Given the description of an element on the screen output the (x, y) to click on. 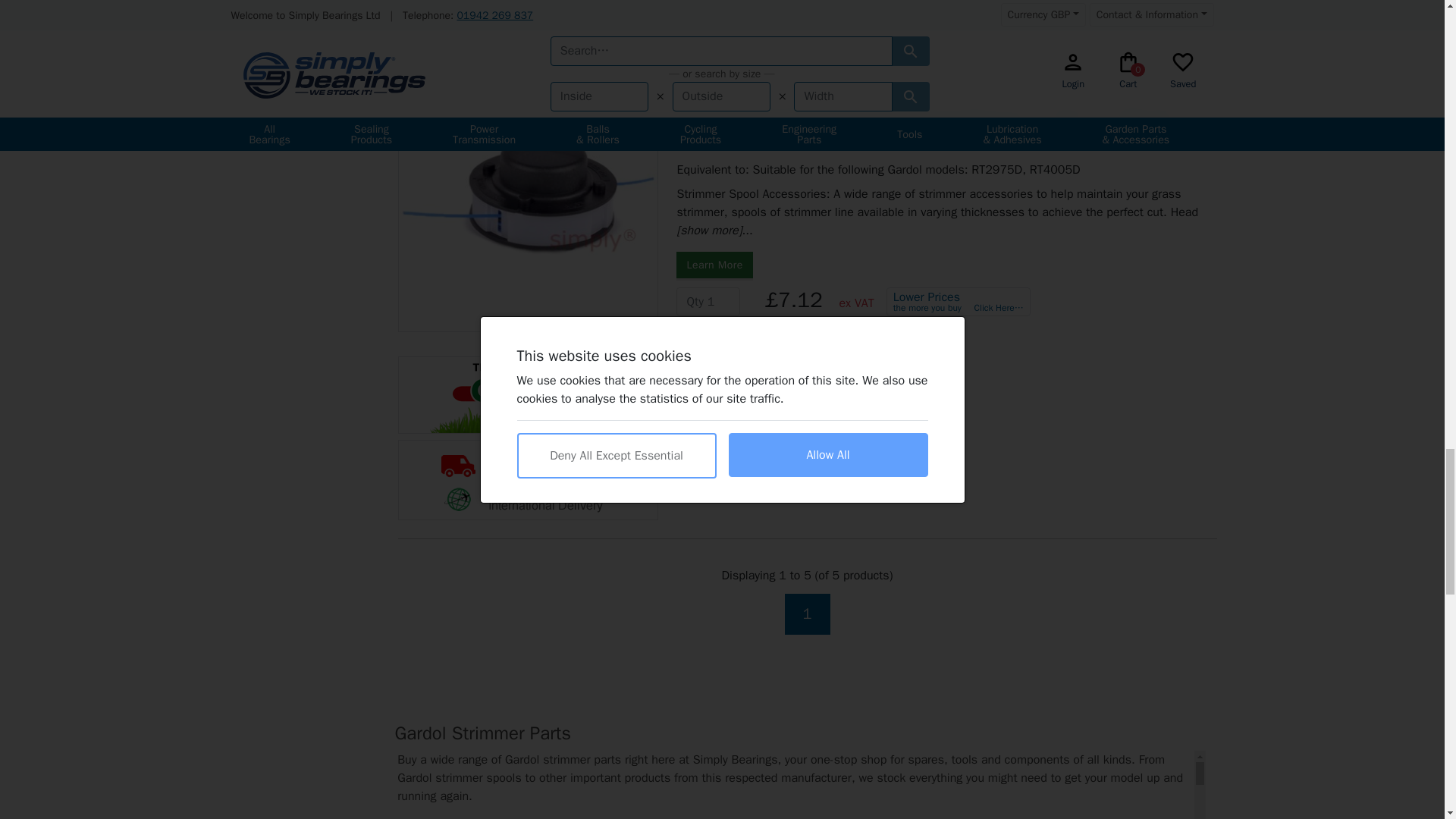
Click for more information (527, 395)
